Given the description of an element on the screen output the (x, y) to click on. 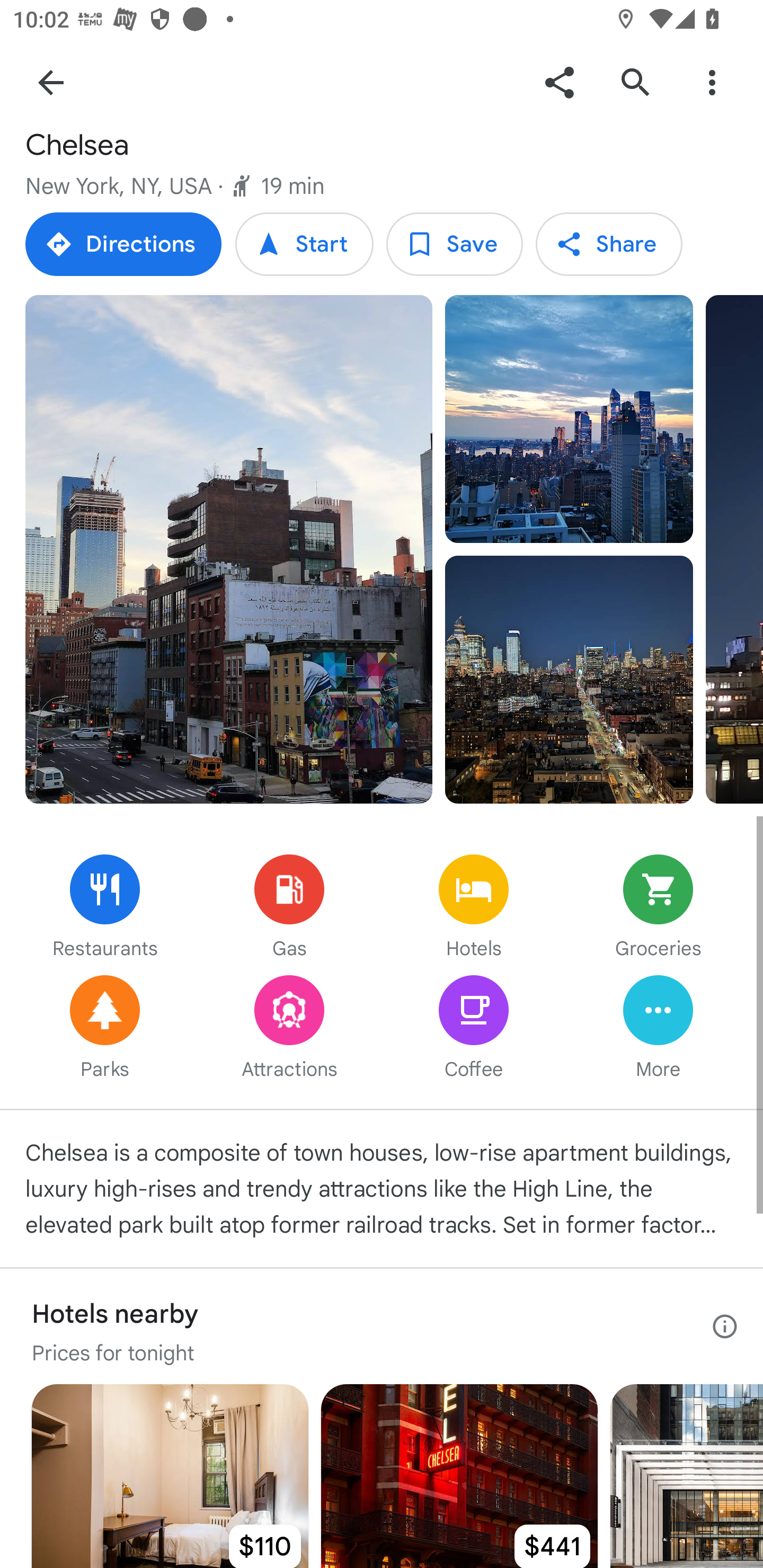
Back to Search (50, 81)
Share (559, 81)
Search (635, 81)
More options for Chelsea (711, 81)
Start Start Start (304, 243)
Save Chelsea to lists Save Save Chelsea to lists (454, 243)
Share Chelsea Share Share Chelsea (608, 243)
Photo (228, 548)
Photo (568, 418)
Photo (568, 678)
Restaurants (104, 908)
Gas (288, 908)
Hotels (473, 908)
Groceries (658, 908)
Parks (104, 1029)
Attractions (288, 1029)
Coffee (473, 1029)
More (658, 1029)
About hotel pricing (724, 1326)
$110 (170, 1476)
$441 (459, 1476)
